Given the description of an element on the screen output the (x, y) to click on. 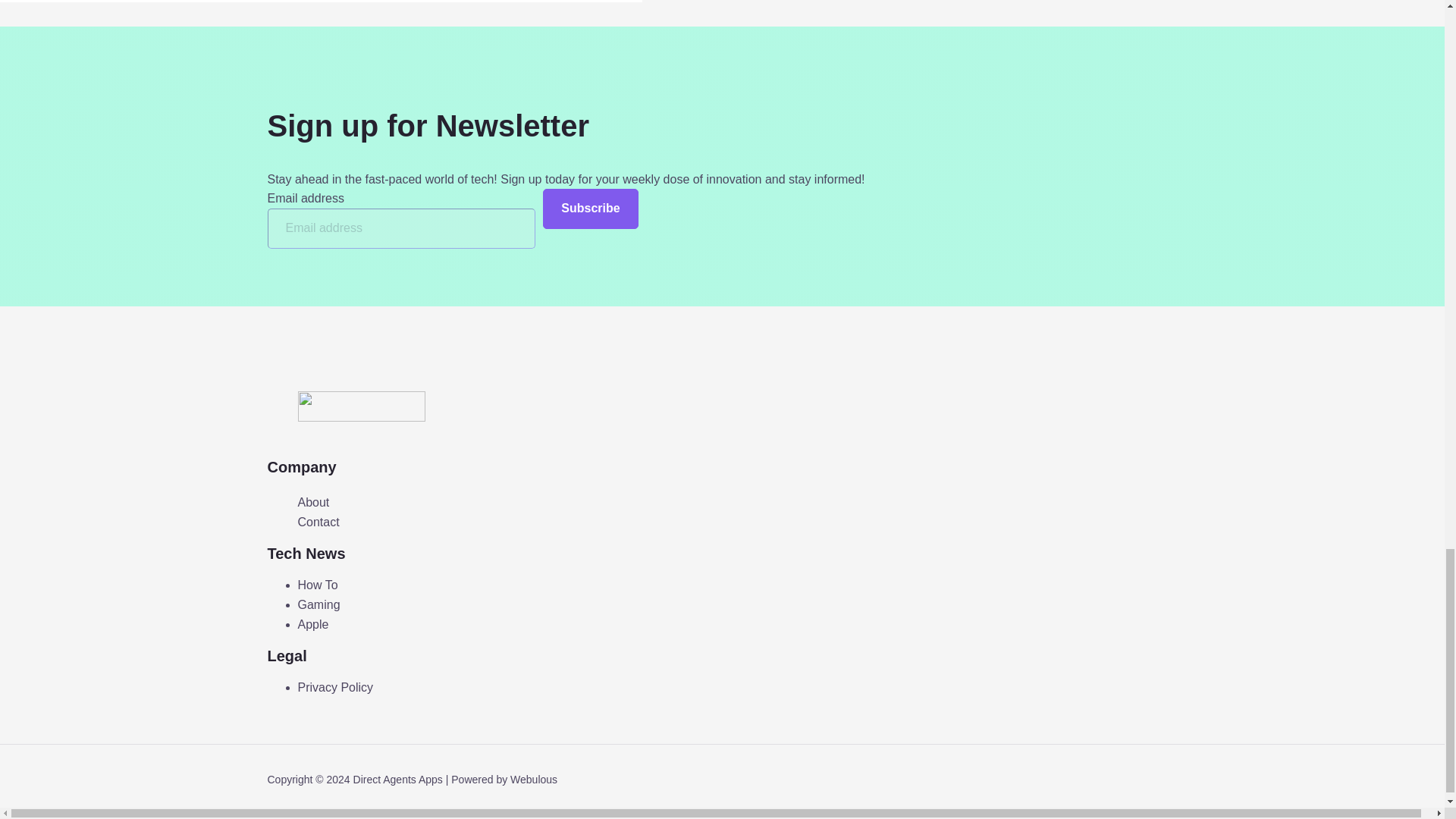
Gaming (318, 604)
Please fill in this field. (400, 228)
Privacy Policy (334, 686)
Apple (313, 624)
Subscribe (590, 209)
How To (317, 584)
About (313, 502)
Contact (318, 522)
